Given the description of an element on the screen output the (x, y) to click on. 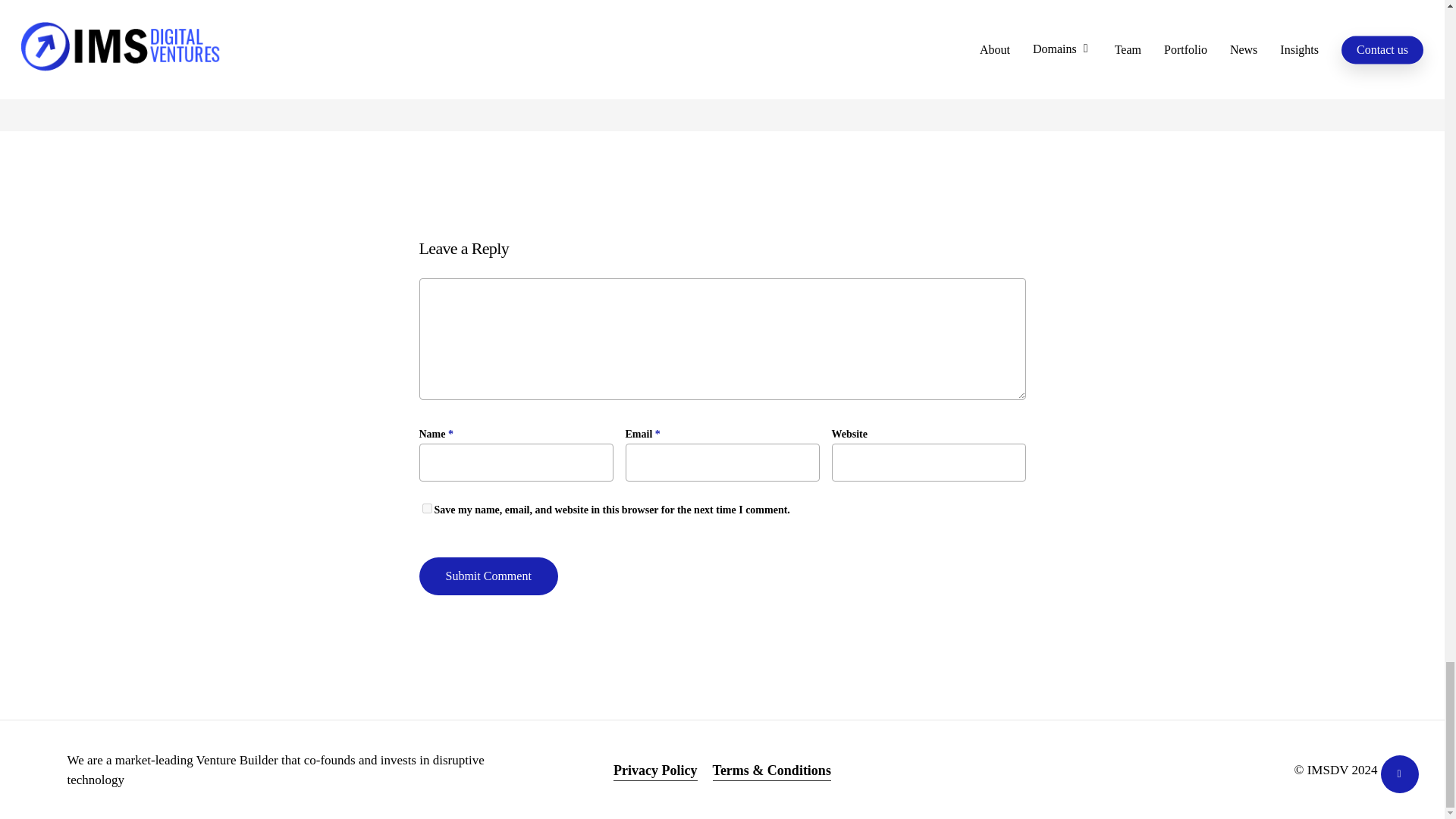
Submit Comment (488, 575)
Privacy Policy (654, 770)
Submit Comment (488, 575)
yes (426, 508)
